Given the description of an element on the screen output the (x, y) to click on. 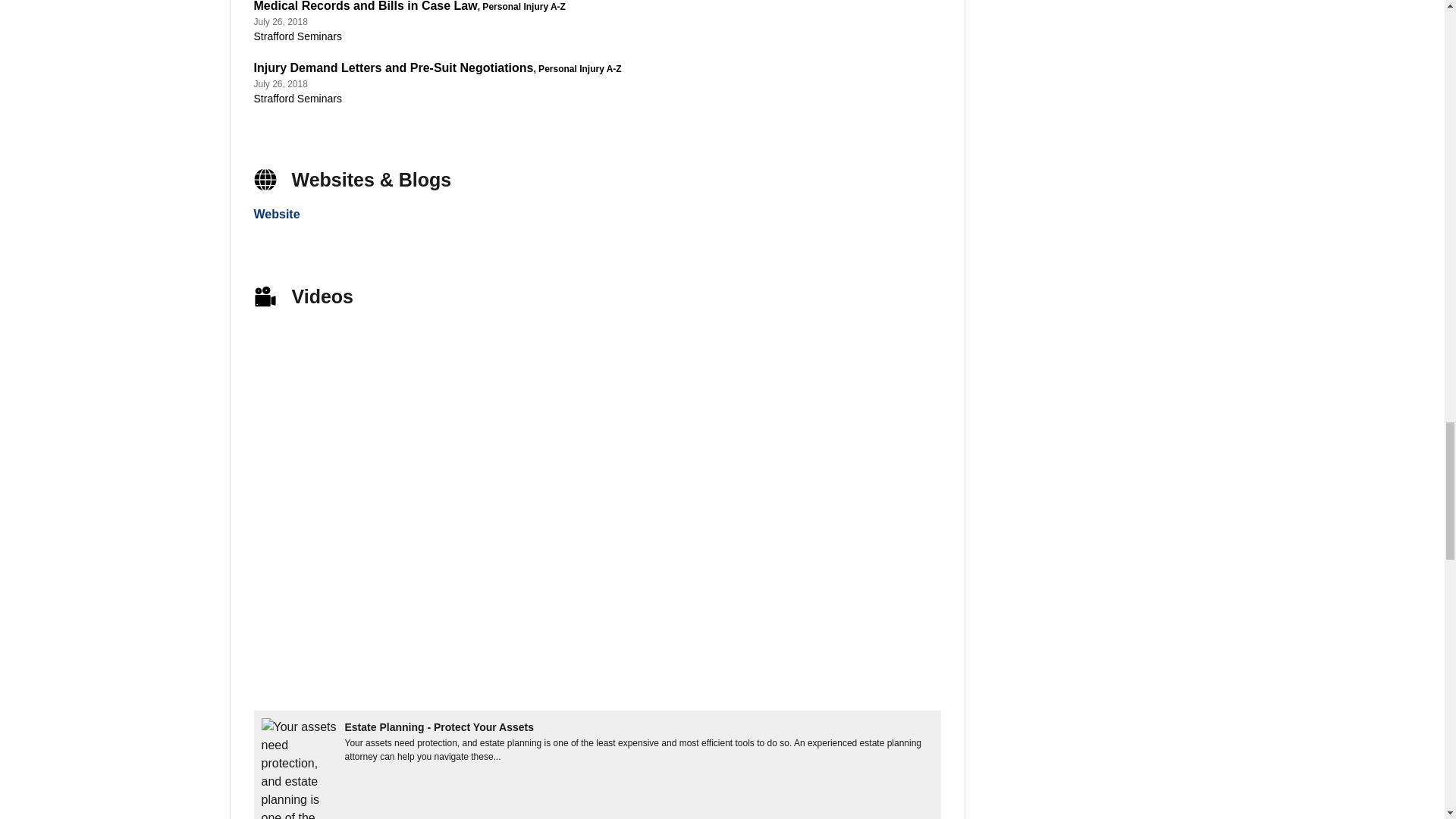
Website (276, 214)
